Given the description of an element on the screen output the (x, y) to click on. 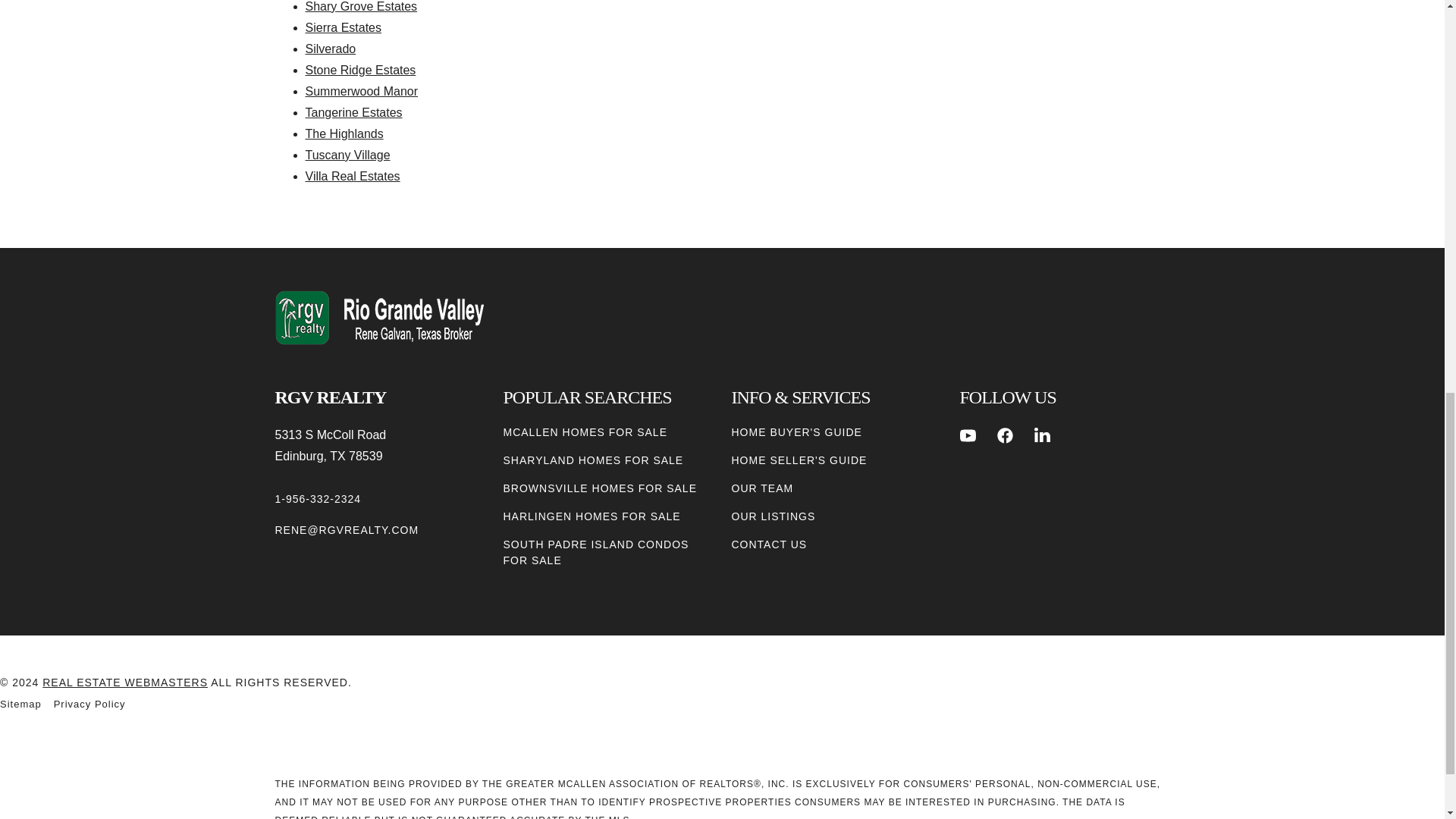
LINKEDIN (1041, 435)
YOUTUBE (967, 435)
FACEBOOK (1005, 435)
